Given the description of an element on the screen output the (x, y) to click on. 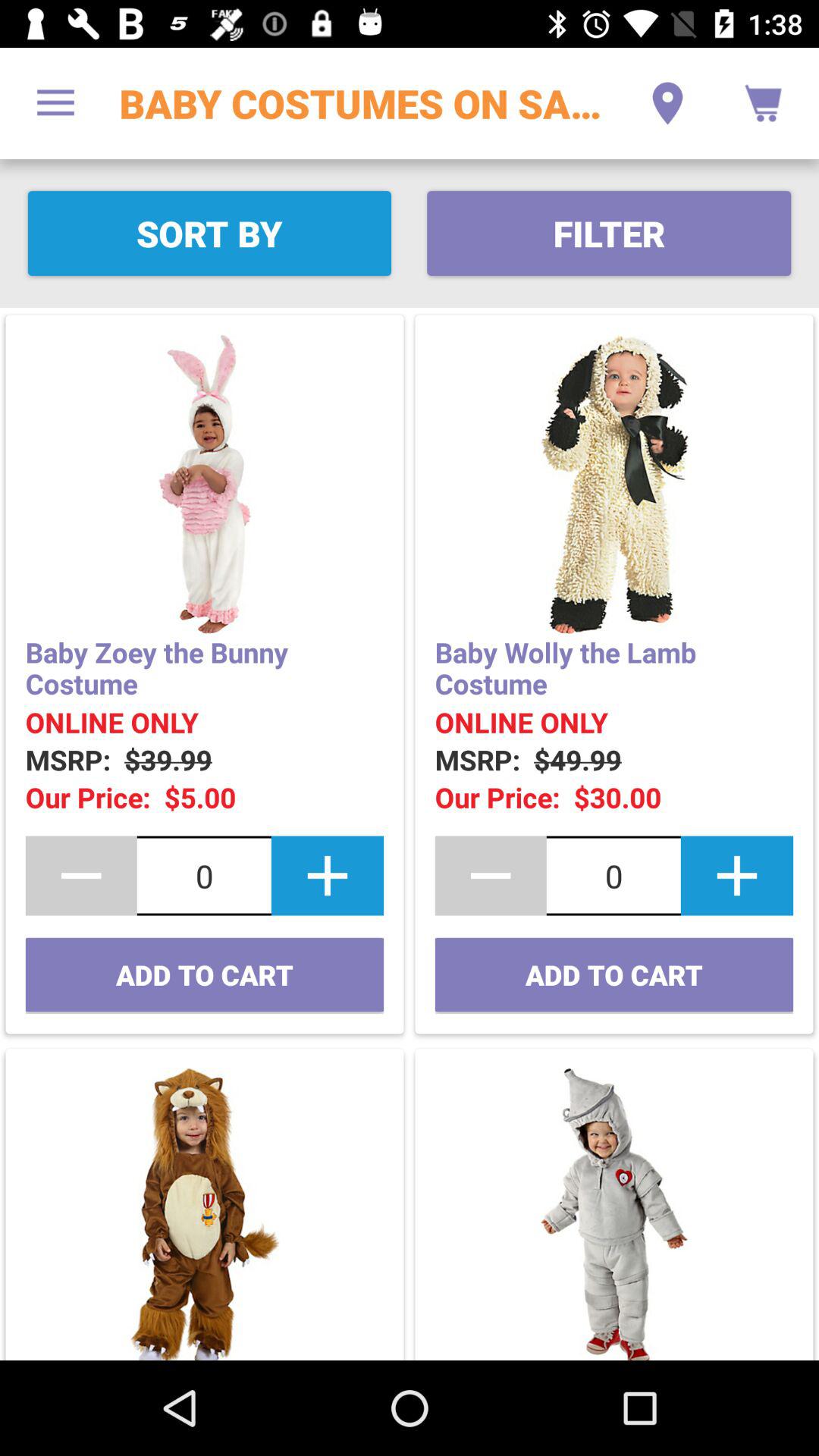
swipe until sort by item (209, 233)
